Given the description of an element on the screen output the (x, y) to click on. 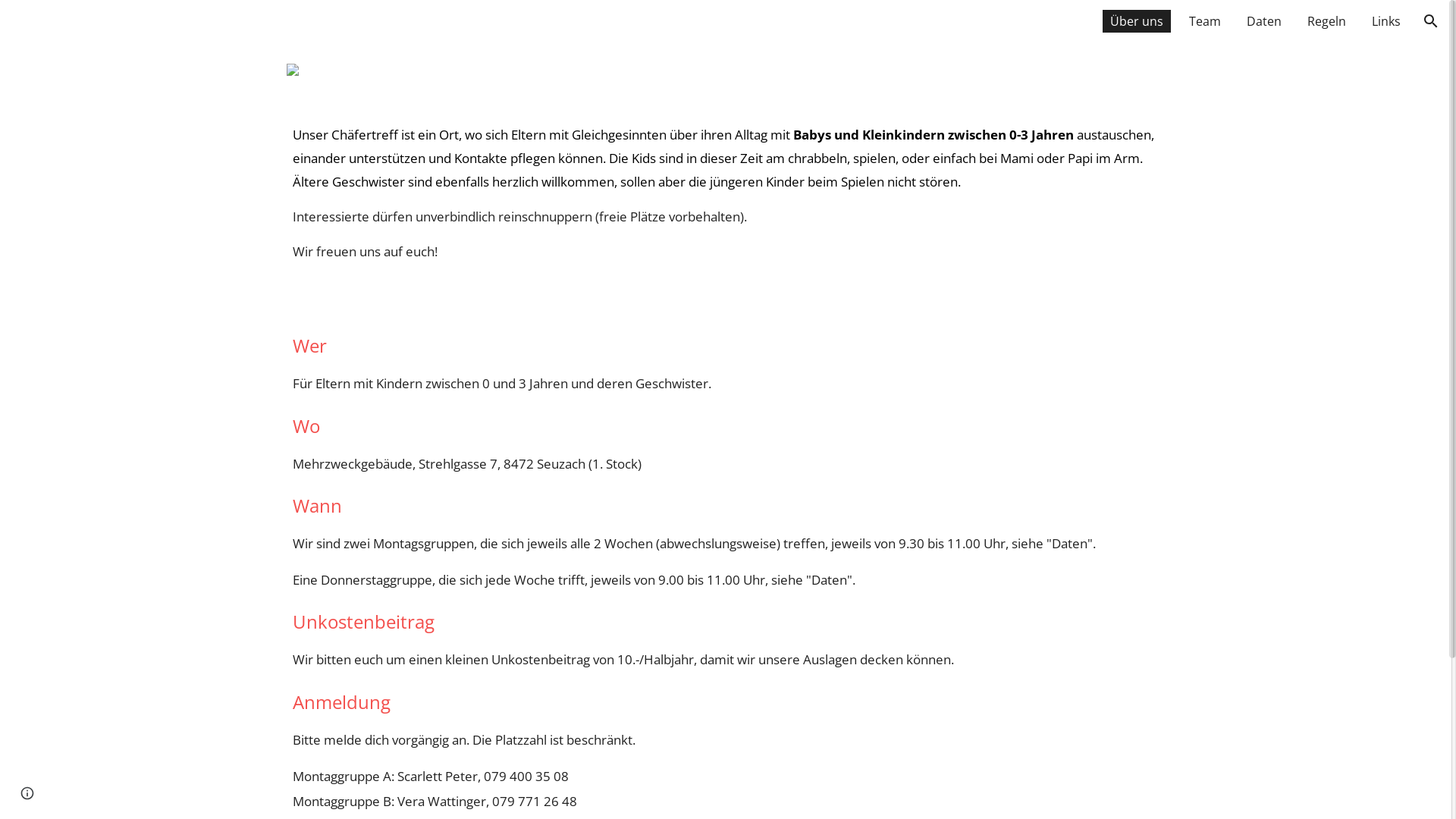
Links Element type: text (1386, 20)
Daten Element type: text (1264, 20)
Team Element type: text (1204, 20)
Regeln Element type: text (1326, 20)
